Given the description of an element on the screen output the (x, y) to click on. 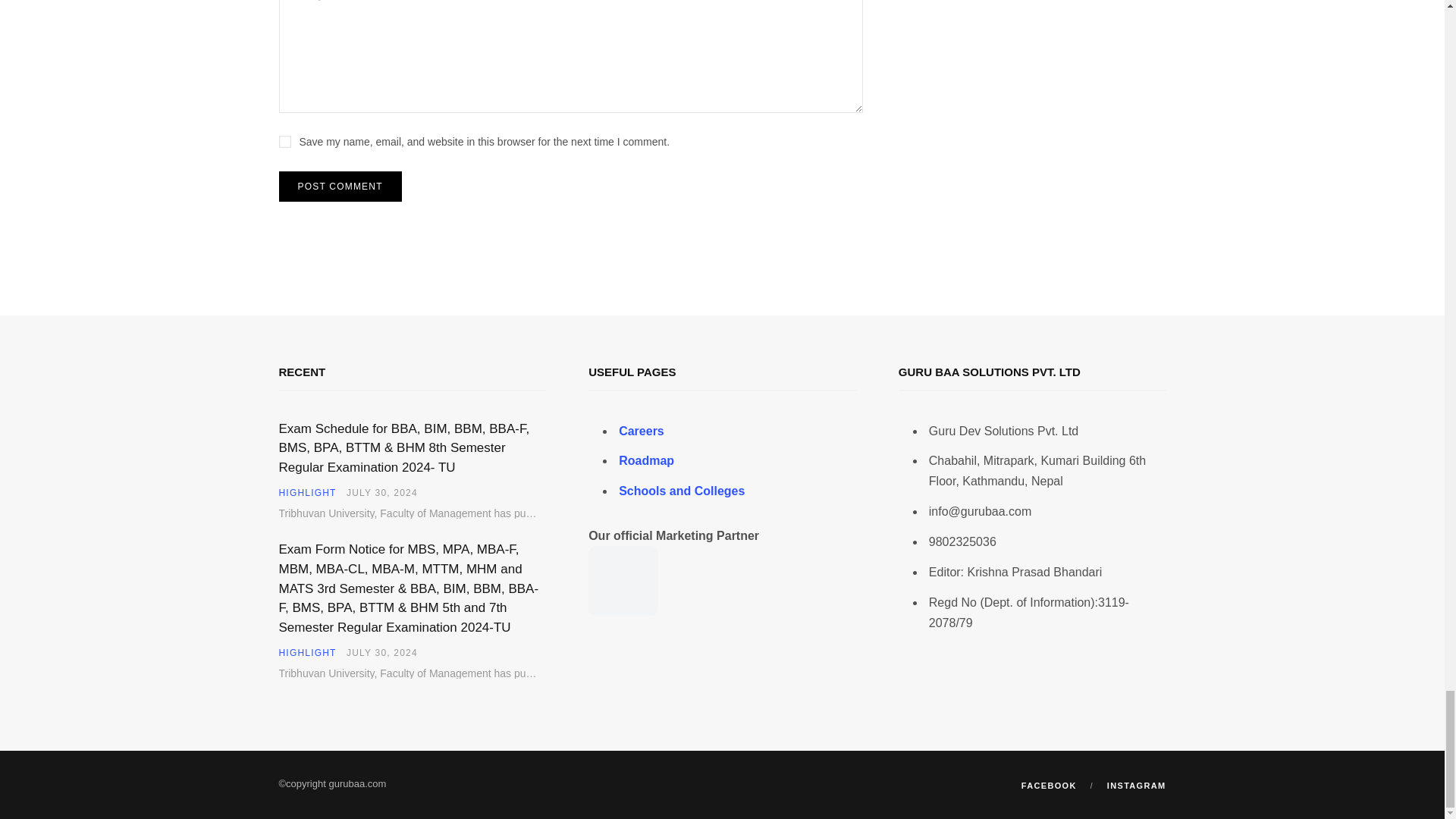
yes (285, 141)
Post Comment (340, 186)
